Given the description of an element on the screen output the (x, y) to click on. 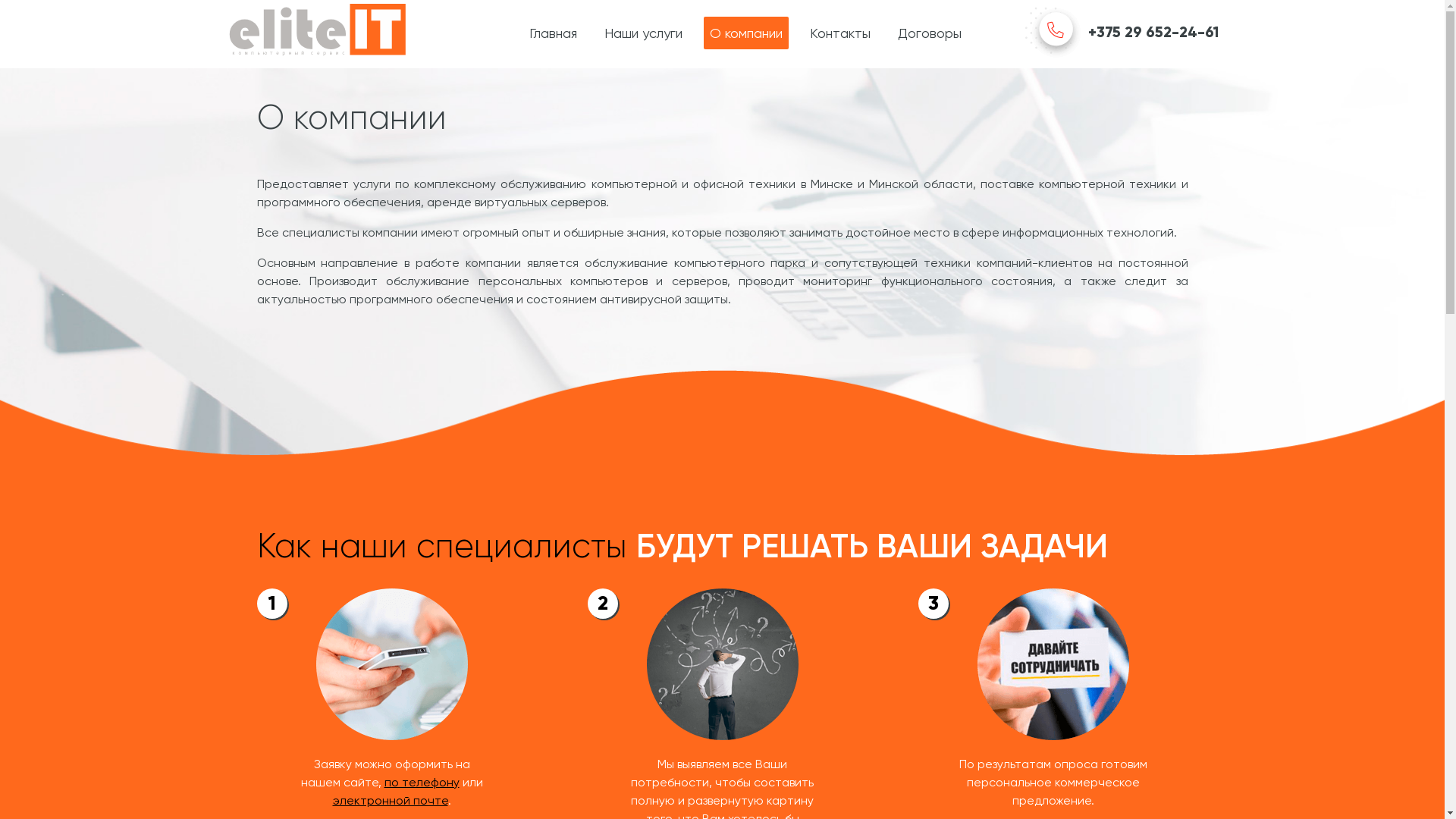
+375 29 652-24-61 Element type: text (1121, 32)
